Given the description of an element on the screen output the (x, y) to click on. 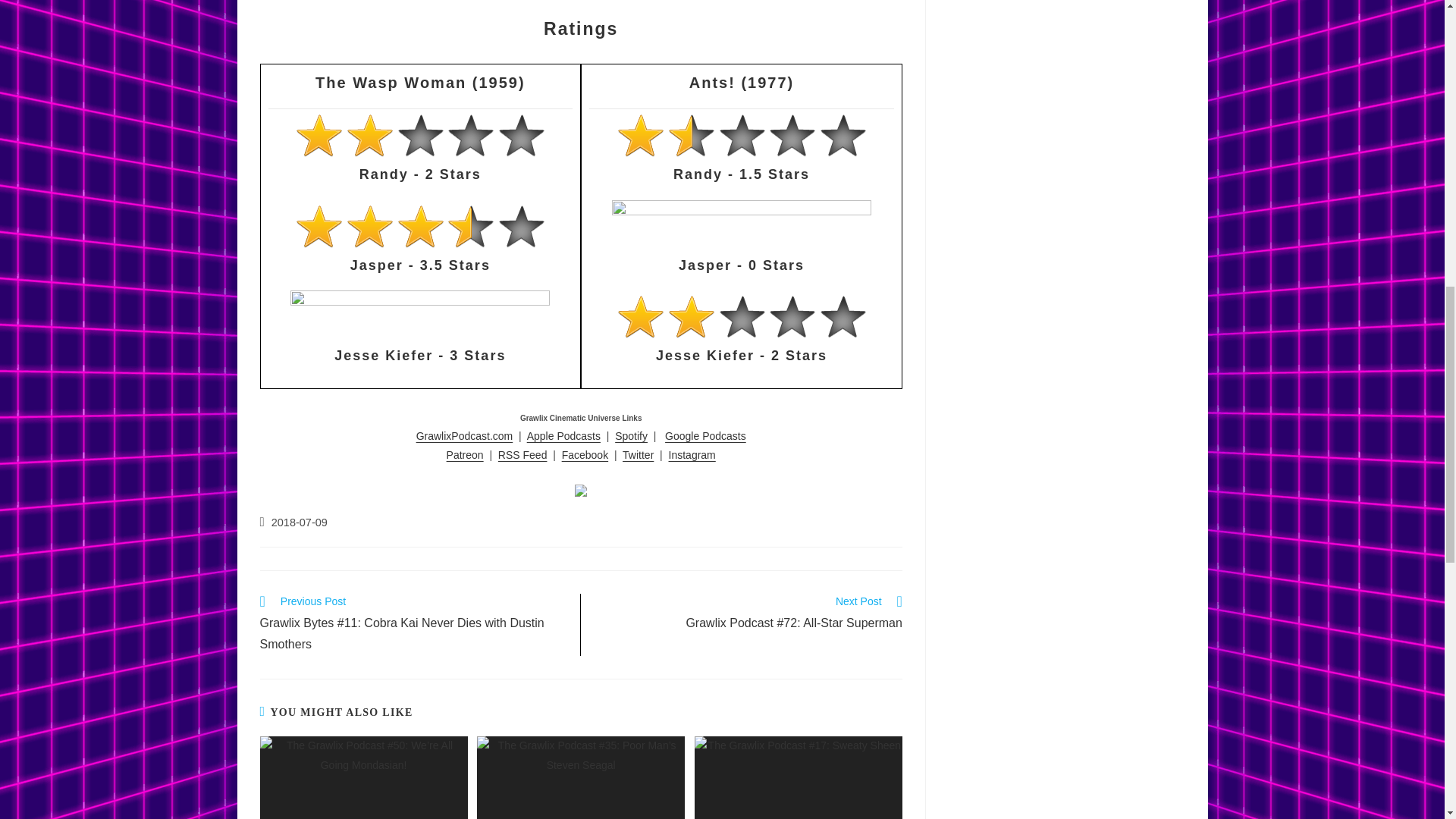
Facebook (585, 454)
Spotify (630, 435)
Twitter (638, 454)
GrawlixPodcast.com (464, 435)
Instagram (692, 454)
RSS Feed (522, 454)
Patreon (464, 454)
Apple Podcasts (563, 435)
Google Podcasts (705, 435)
